Given the description of an element on the screen output the (x, y) to click on. 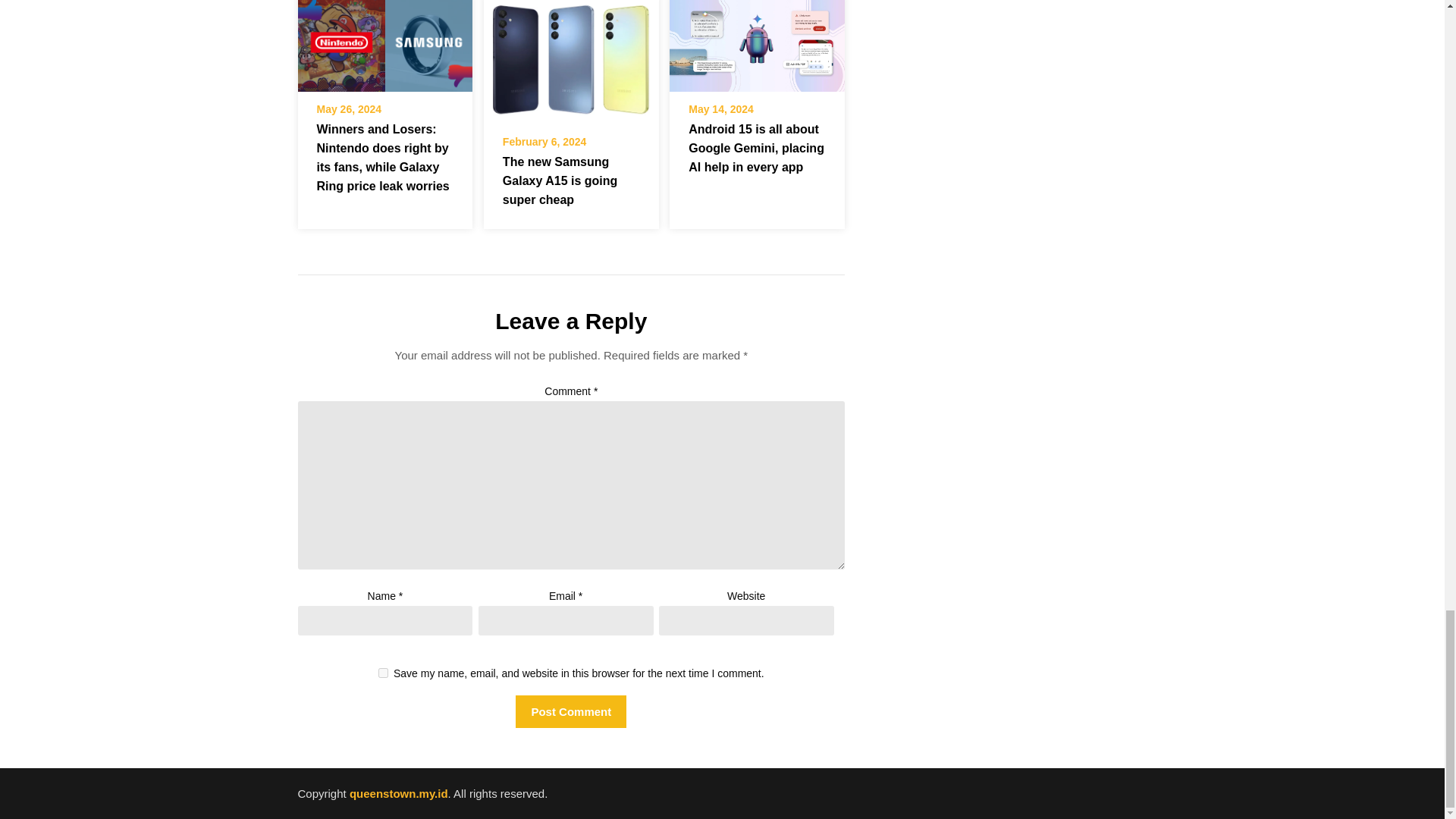
The new Samsung Galaxy A15 is going super cheap (559, 180)
The new Samsung Galaxy A15 is going super cheap (571, 62)
The new Samsung Galaxy A15 is going super cheap (571, 52)
Post Comment (570, 711)
Post Comment (570, 711)
yes (383, 673)
